Given the description of an element on the screen output the (x, y) to click on. 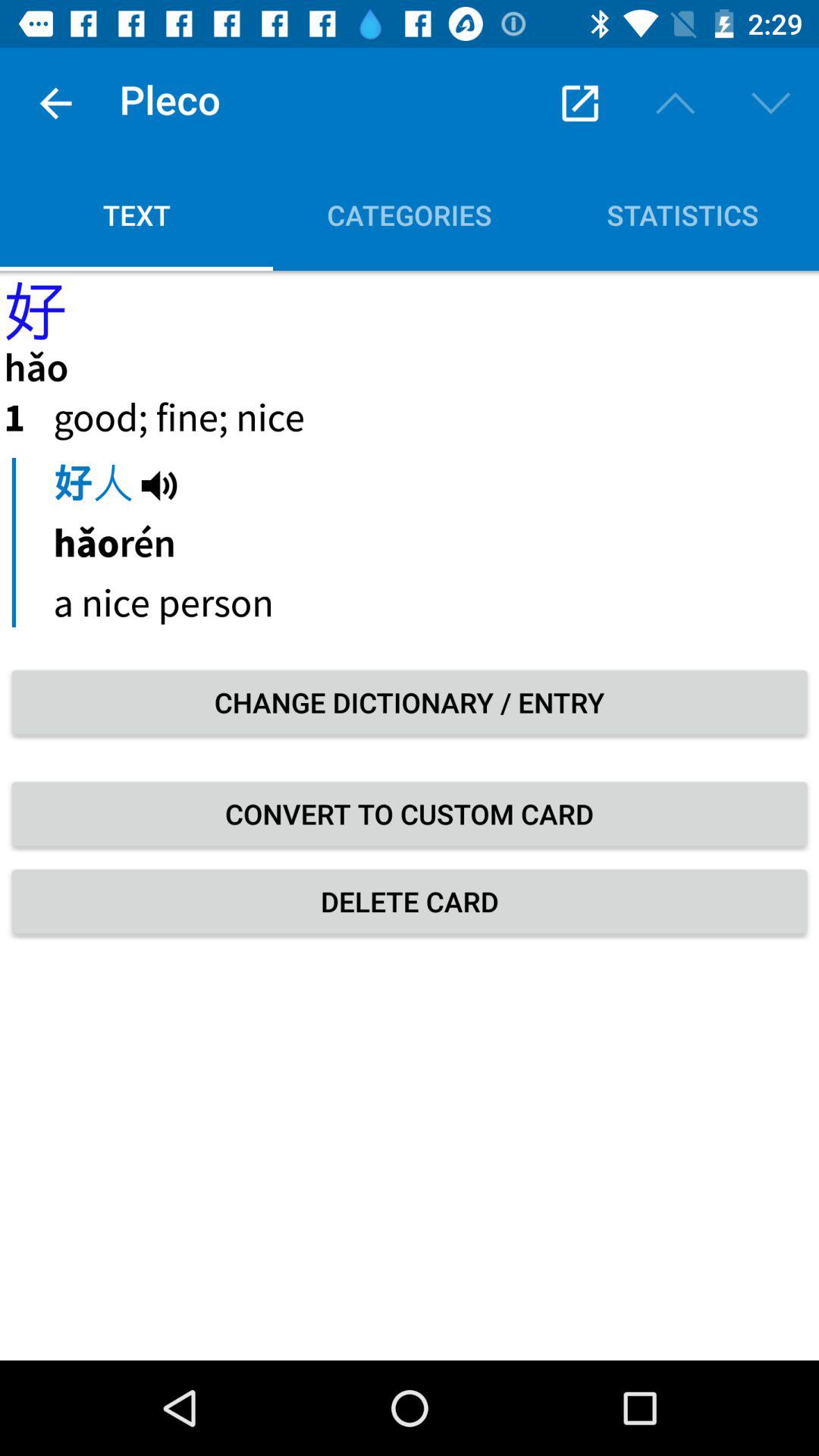
turn off the delete card (409, 901)
